Given the description of an element on the screen output the (x, y) to click on. 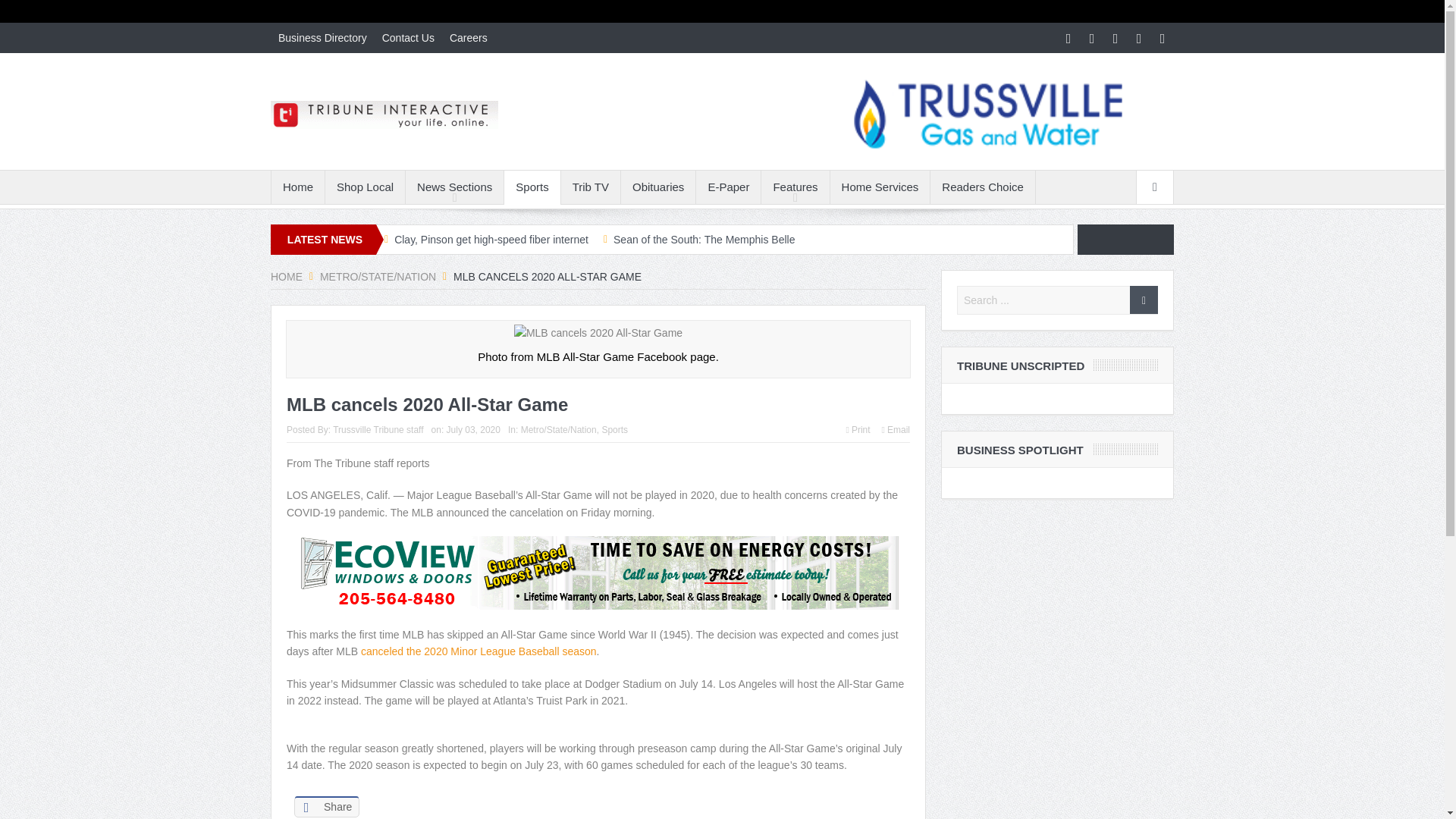
Trib TV (590, 186)
Home (297, 186)
Features (794, 186)
Obituaries (658, 186)
Readers Choice (982, 186)
Share on Facebook (326, 806)
Shop Local (364, 186)
News Sections (454, 186)
Careers (468, 37)
Contact Us (408, 37)
